Given the description of an element on the screen output the (x, y) to click on. 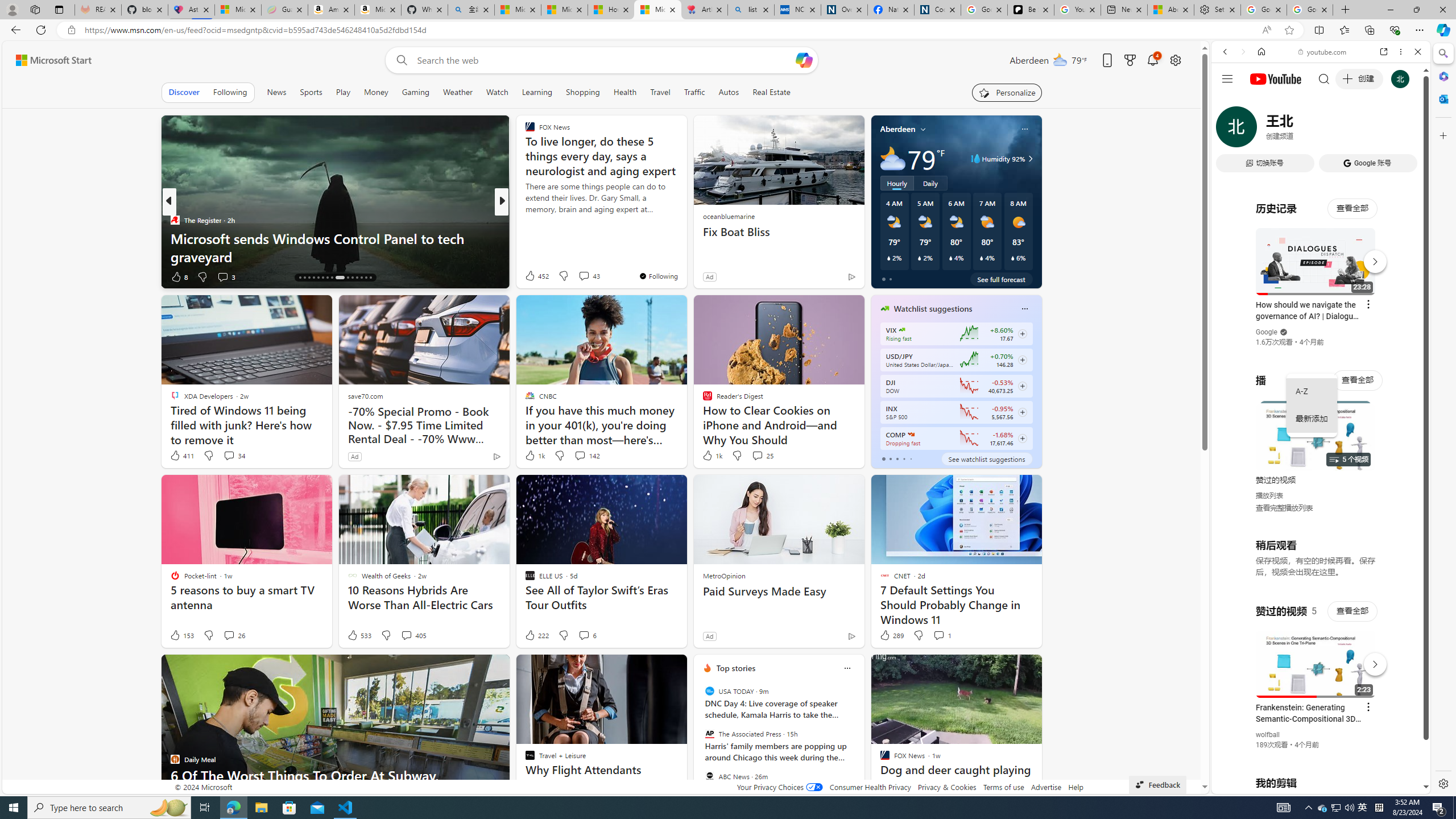
Gaming (415, 92)
save70.com (364, 395)
See full forecast (1000, 278)
222 Like (536, 634)
Real Estate (771, 92)
Asthma Inhalers: Names and Types (191, 9)
previous (699, 741)
